Given the description of an element on the screen output the (x, y) to click on. 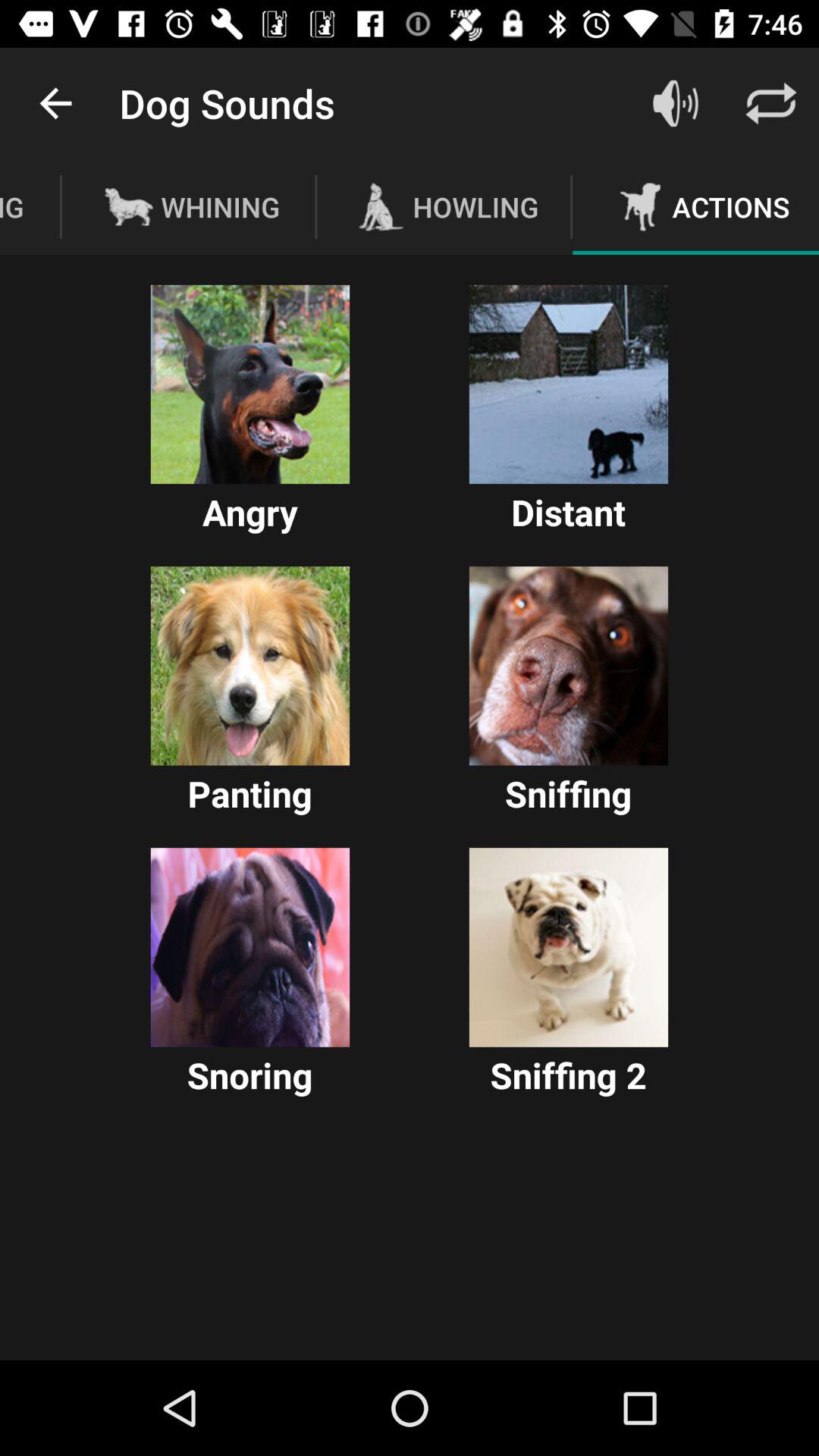
go to picture (568, 384)
